Given the description of an element on the screen output the (x, y) to click on. 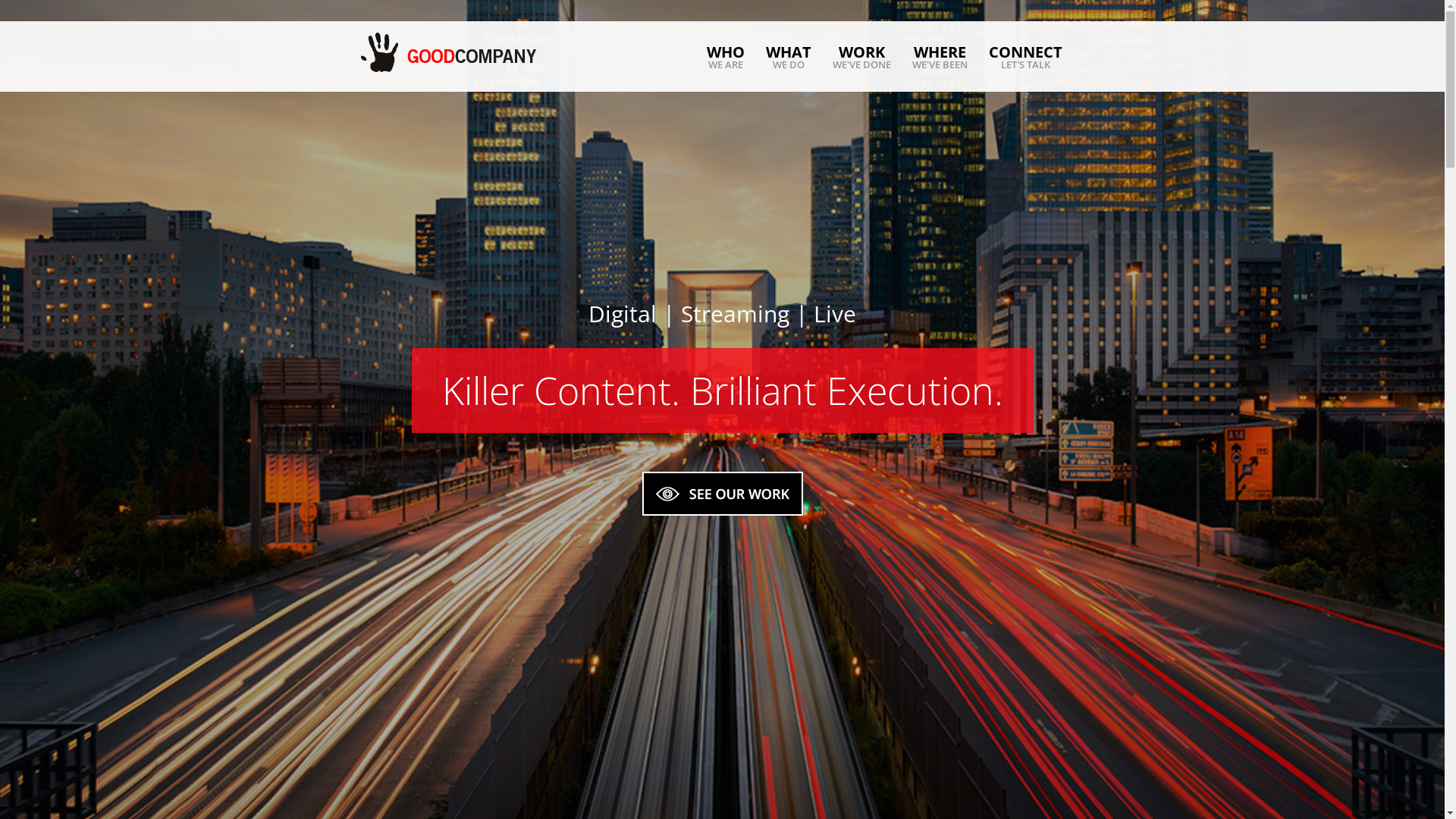
WORK
WE'VE DONE Element type: text (861, 56)
CONNECT
LET'S TALK Element type: text (1025, 56)
WHERE
WE'VE BEEN Element type: text (939, 56)
WHO
WE ARE Element type: text (725, 56)
WHAT
WE DO Element type: text (788, 56)
